Given the description of an element on the screen output the (x, y) to click on. 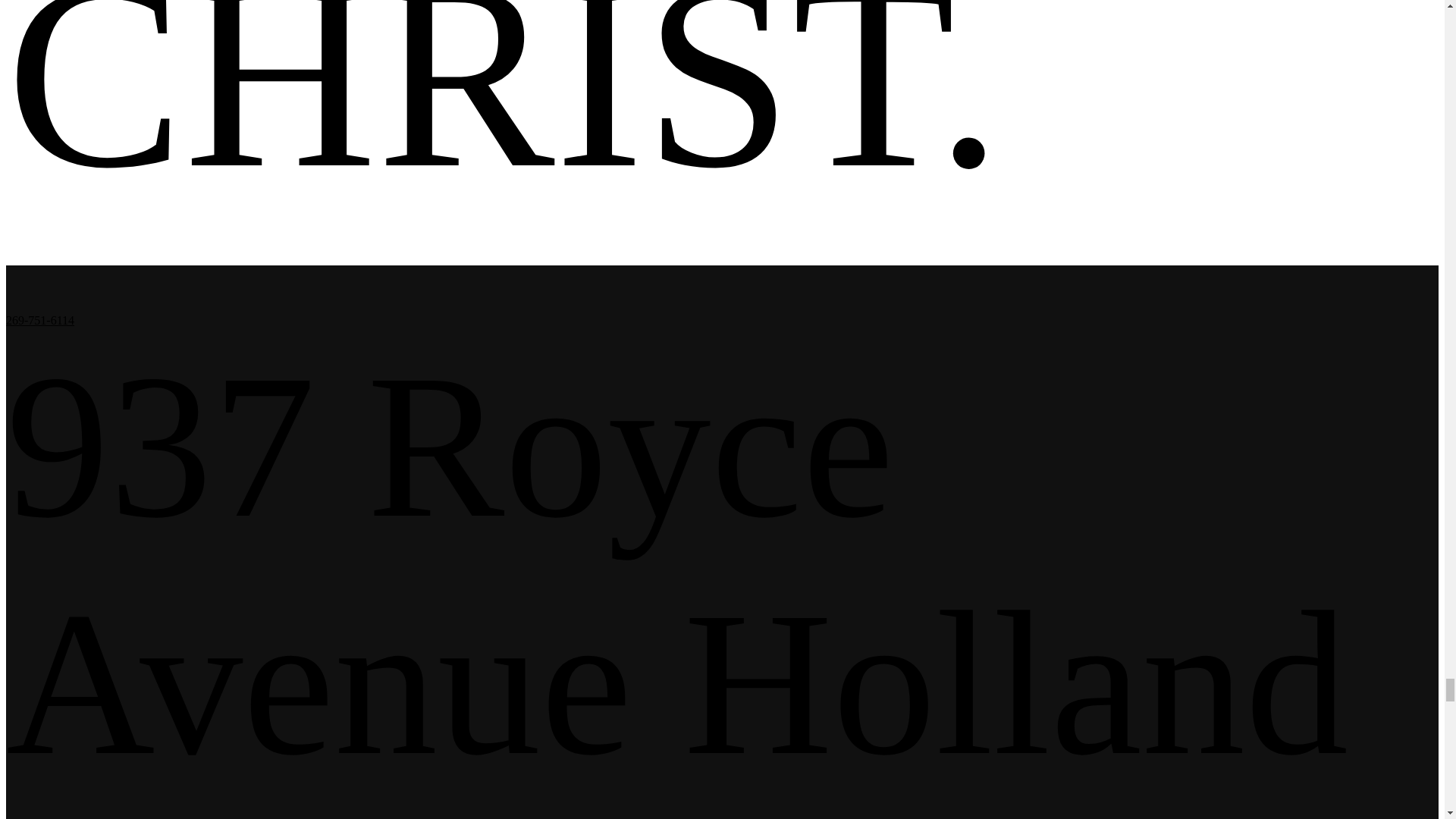
269-751-6114 (39, 319)
